Given the description of an element on the screen output the (x, y) to click on. 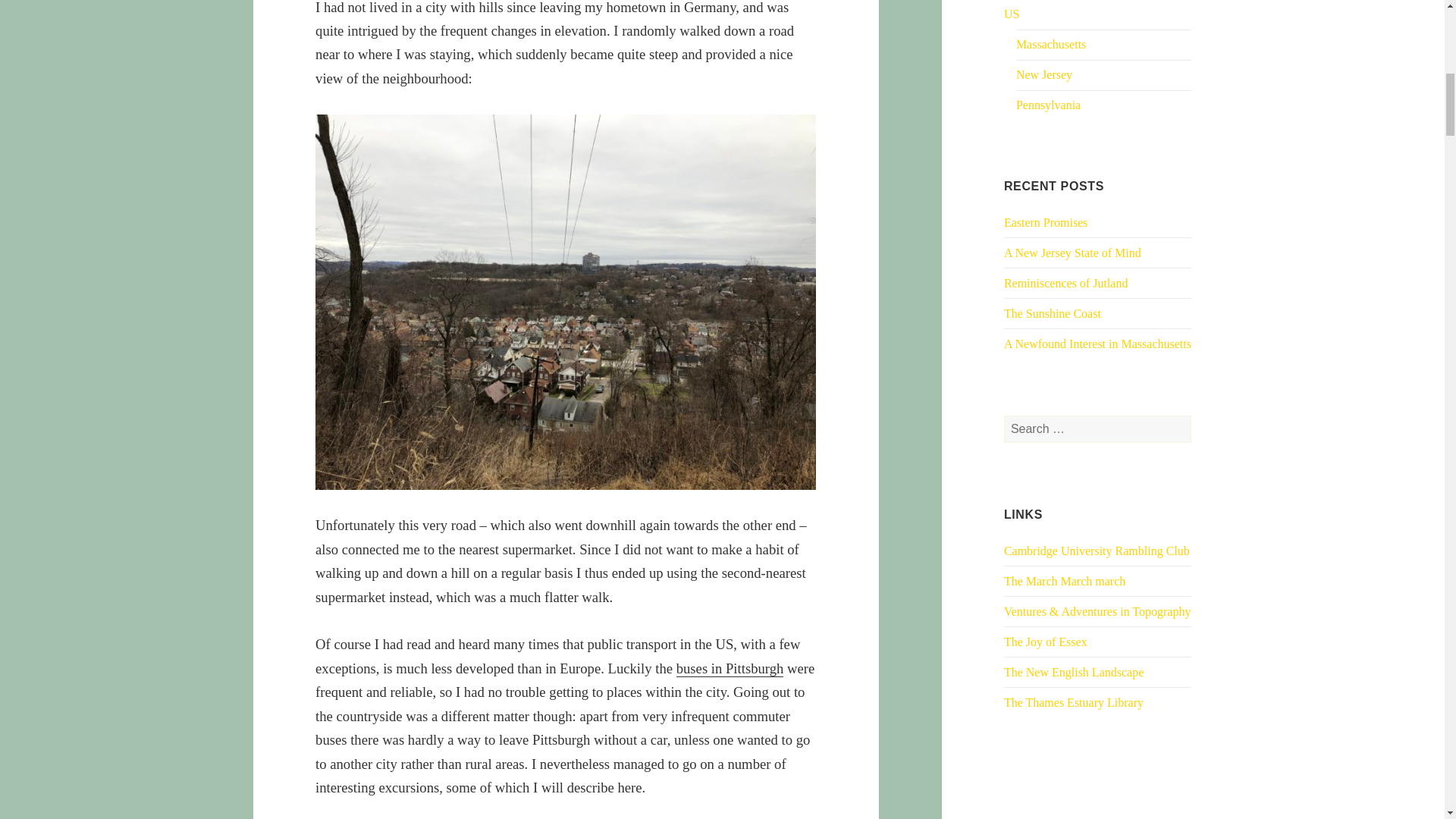
Eastern Promises (1045, 222)
A New Jersey State of Mind (1072, 252)
The Thames Estuary Library (1073, 702)
The Joy of Essex (1045, 641)
A Newfound Interest in Massachusetts (1097, 343)
The New English Landscape (1073, 671)
Massachusetts (1051, 43)
Reminiscences of Jutland (1066, 282)
Pennsylvania (1048, 104)
buses in Pittsburgh (730, 668)
New Jersey (1043, 74)
The March March march (1064, 581)
